Given the description of an element on the screen output the (x, y) to click on. 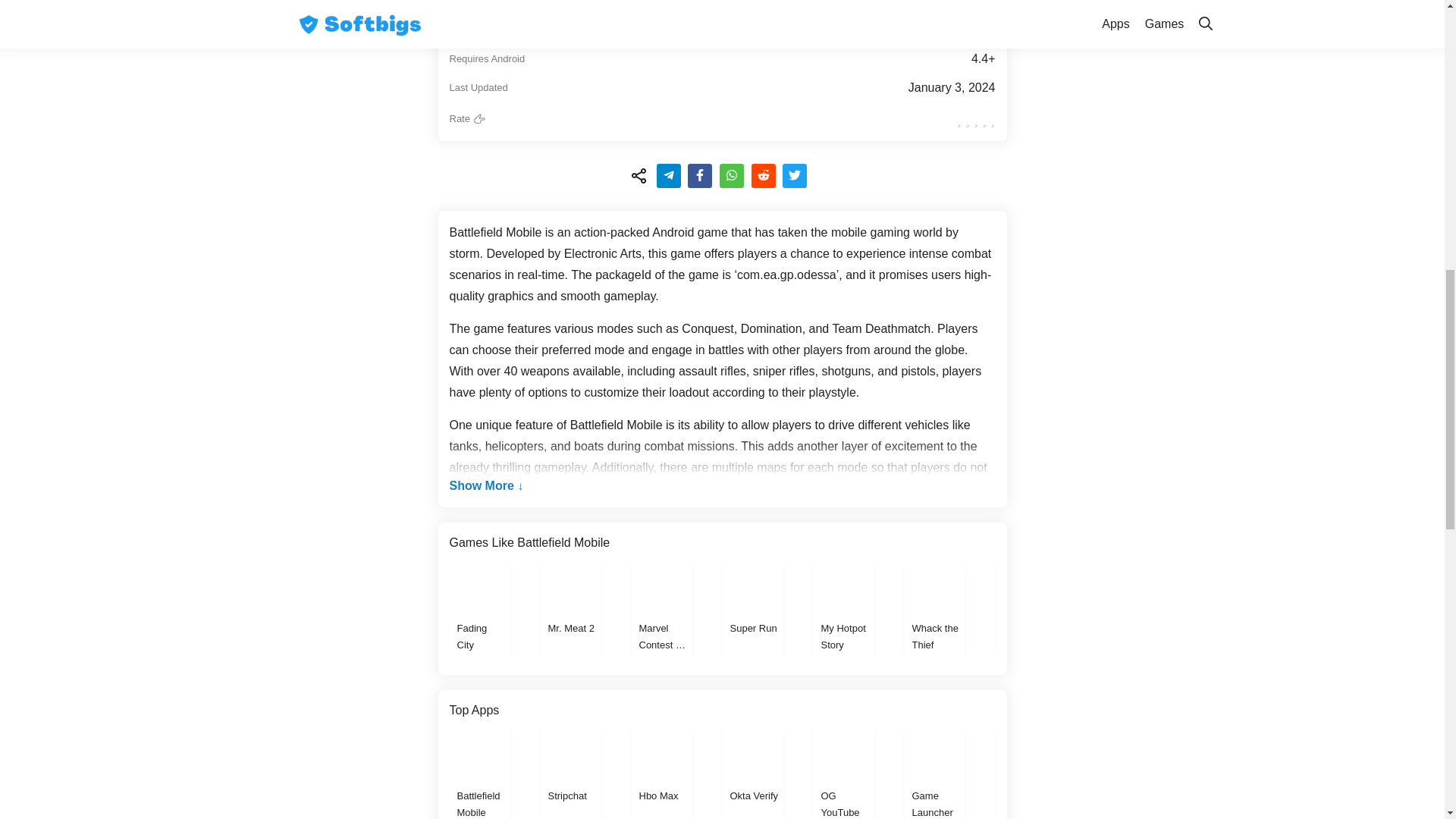
Marvel Contest of Champions (660, 608)
Stickman Shinobi Fighting (1024, 608)
Super Run (752, 608)
My Hotpot Story (842, 608)
Lucky Puppy (1116, 608)
Fading City (478, 608)
Whack the Thief (933, 608)
Mr. Meat 2 (569, 608)
